Given the description of an element on the screen output the (x, y) to click on. 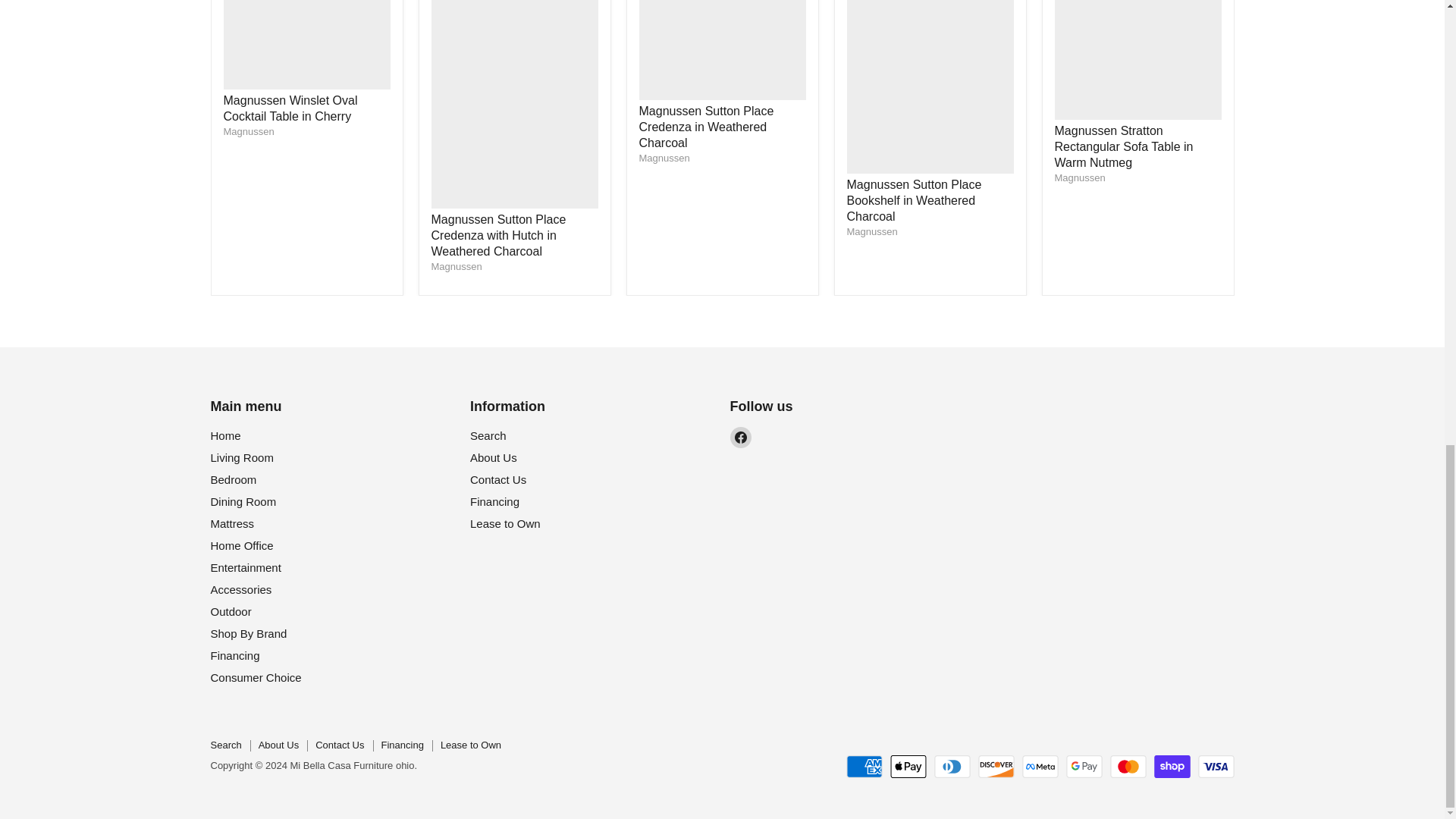
Facebook (740, 436)
American Express (863, 766)
Magnussen (247, 131)
Magnussen (870, 231)
Magnussen (455, 266)
Magnussen (1079, 177)
Magnussen (663, 157)
